Given the description of an element on the screen output the (x, y) to click on. 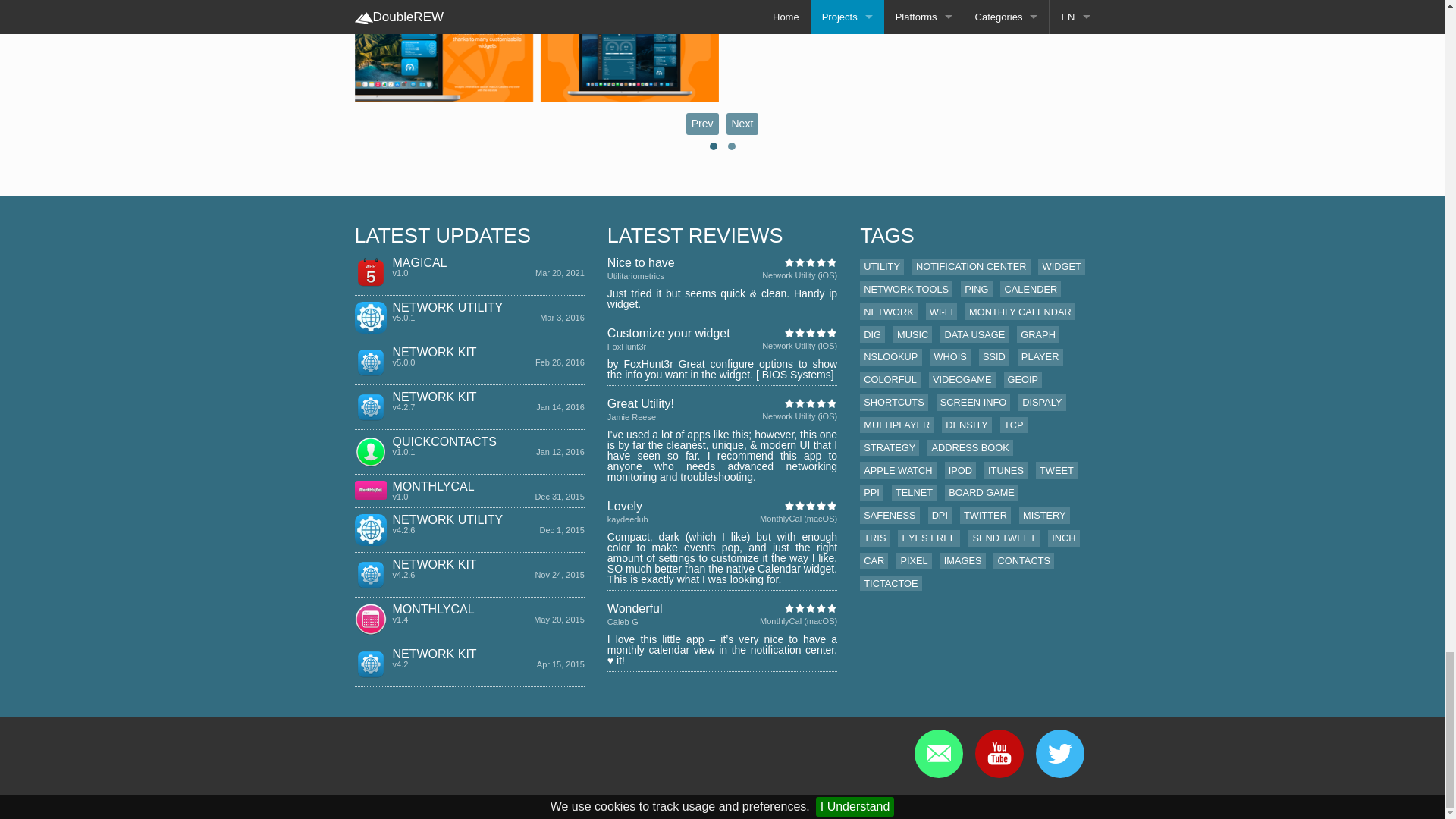
Email (938, 753)
Twitter (1059, 753)
YouTube (999, 753)
